Given the description of an element on the screen output the (x, y) to click on. 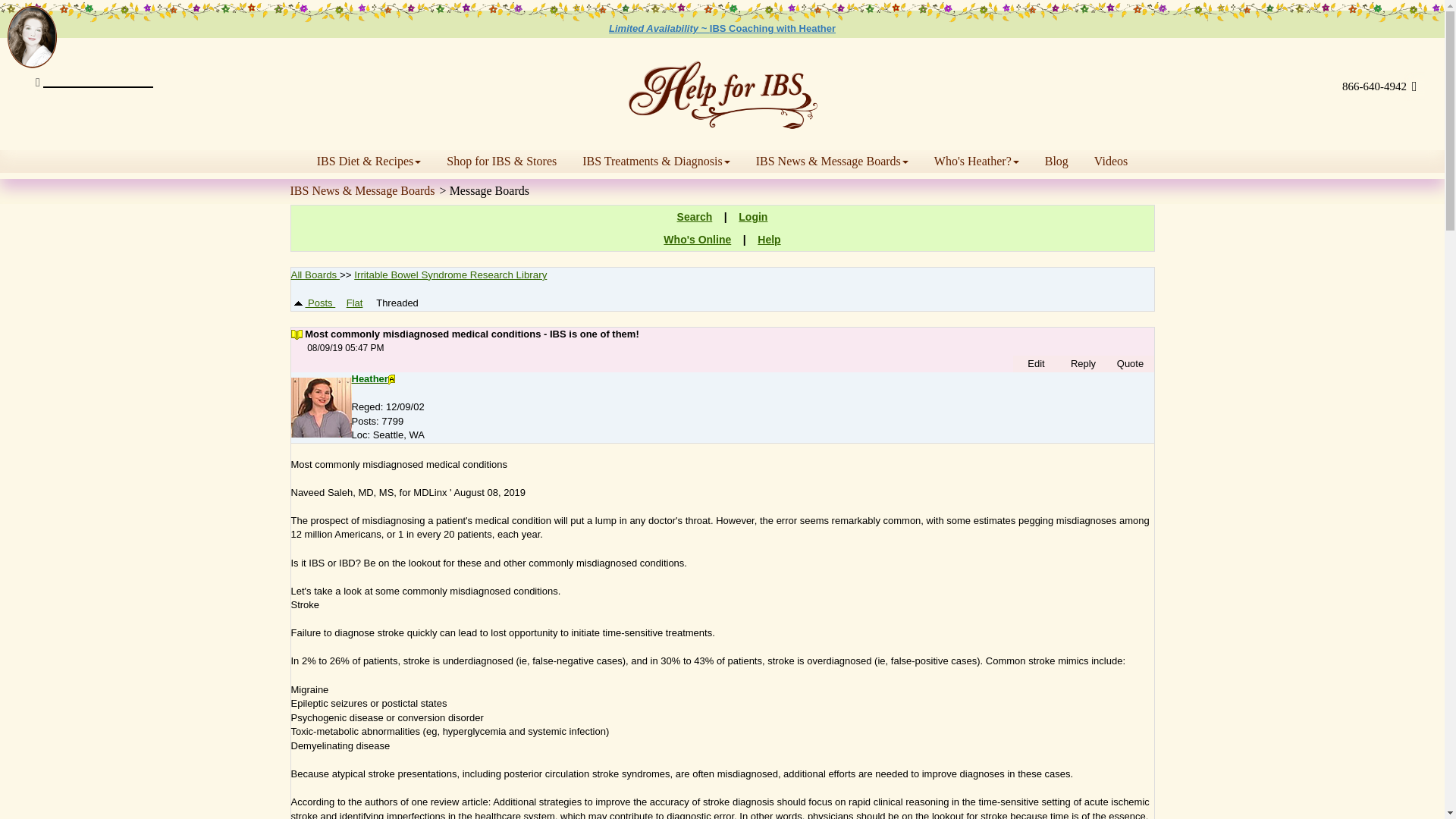
866-640-4942 (1374, 86)
